Given the description of an element on the screen output the (x, y) to click on. 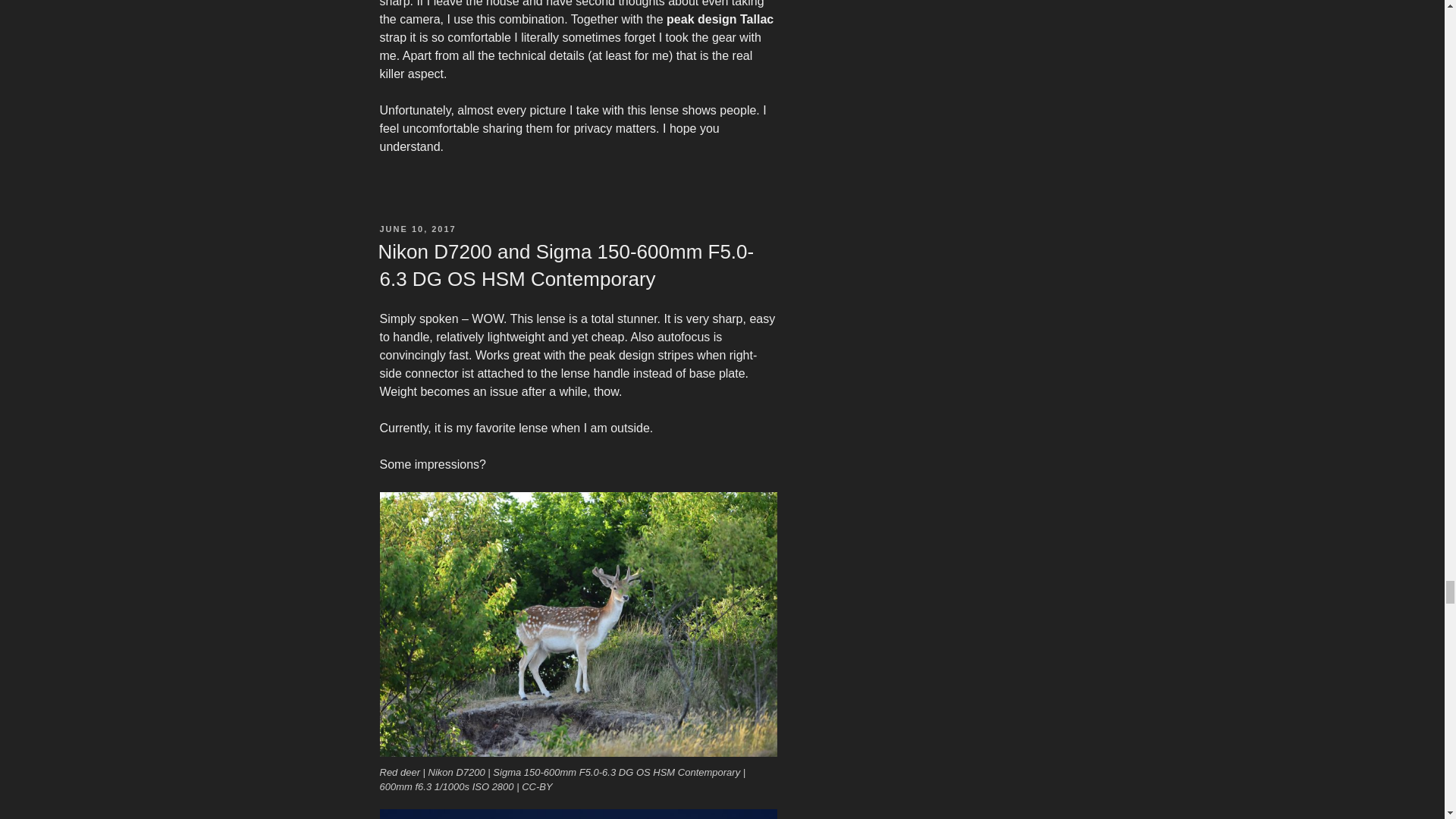
JUNE 10, 2017 (416, 228)
